Given the description of an element on the screen output the (x, y) to click on. 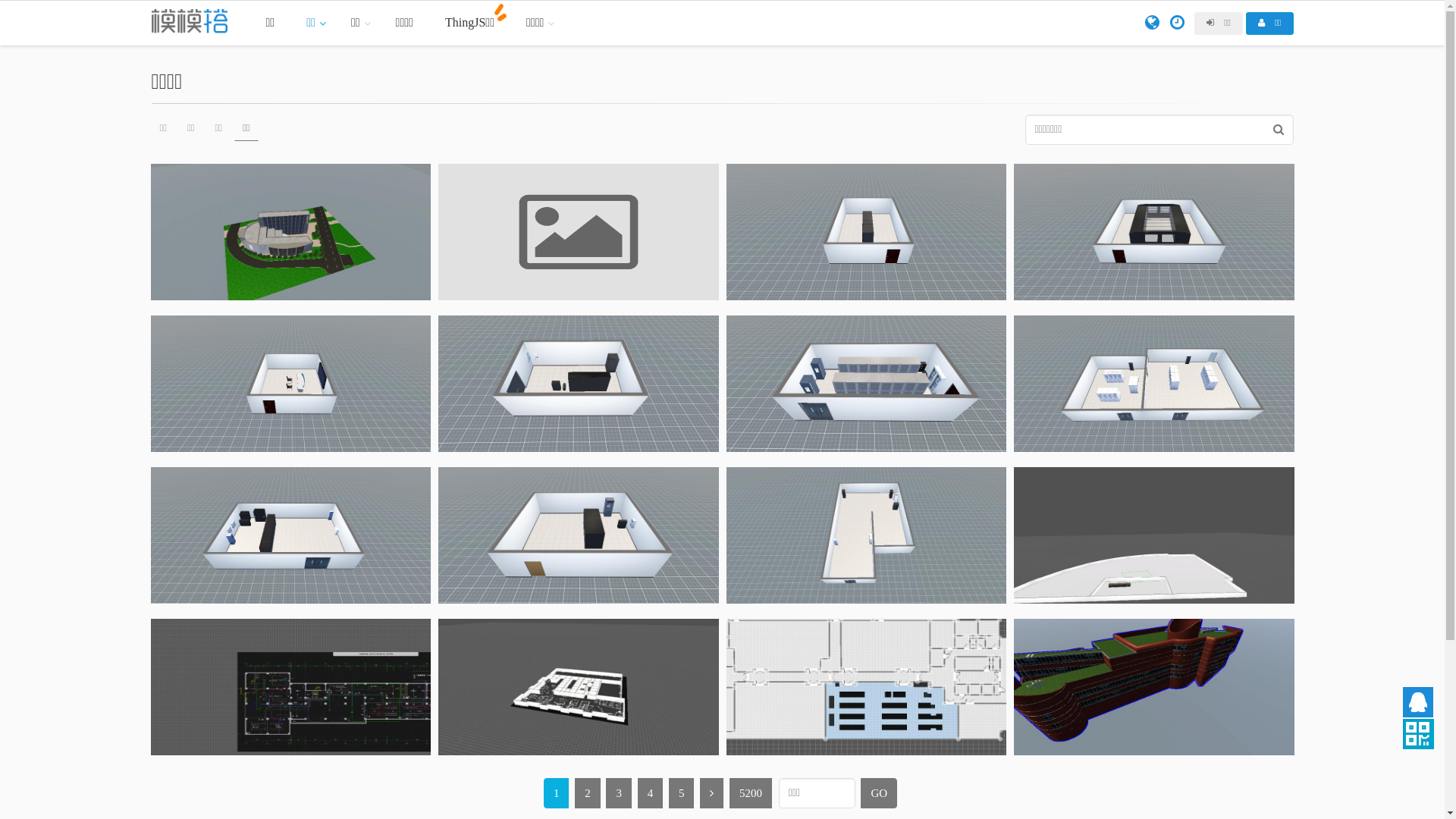
5 Element type: text (681, 793)
2 Element type: text (587, 793)
3 Element type: text (618, 793)
11 Element type: hover (578, 383)
1 Element type: text (556, 793)
GO Element type: text (878, 793)
5200 Element type: text (750, 793)
dddd Element type: hover (578, 231)
4 Element type: text (650, 793)
